Given the description of an element on the screen output the (x, y) to click on. 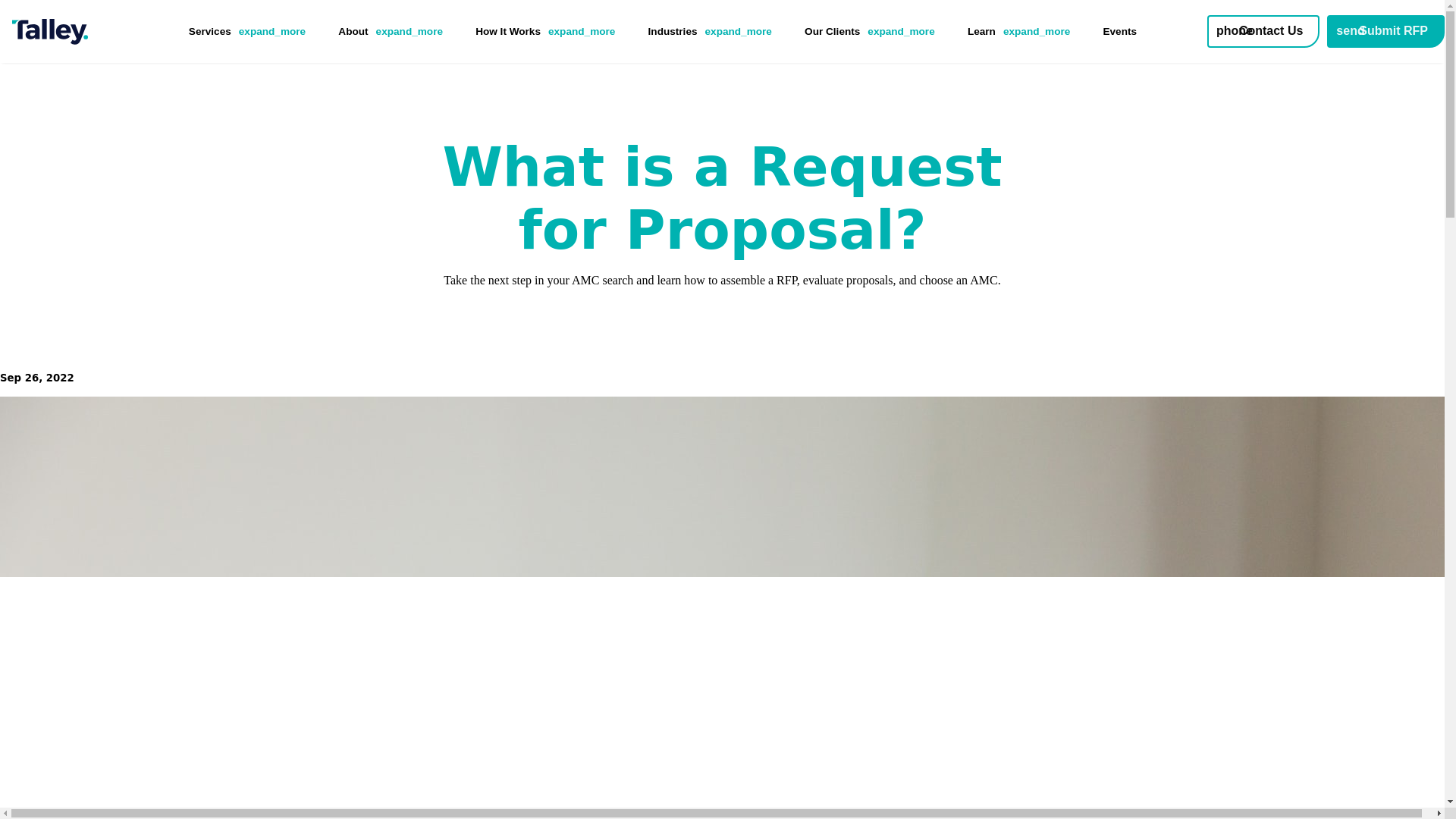
Events (1119, 31)
